Given the description of an element on the screen output the (x, y) to click on. 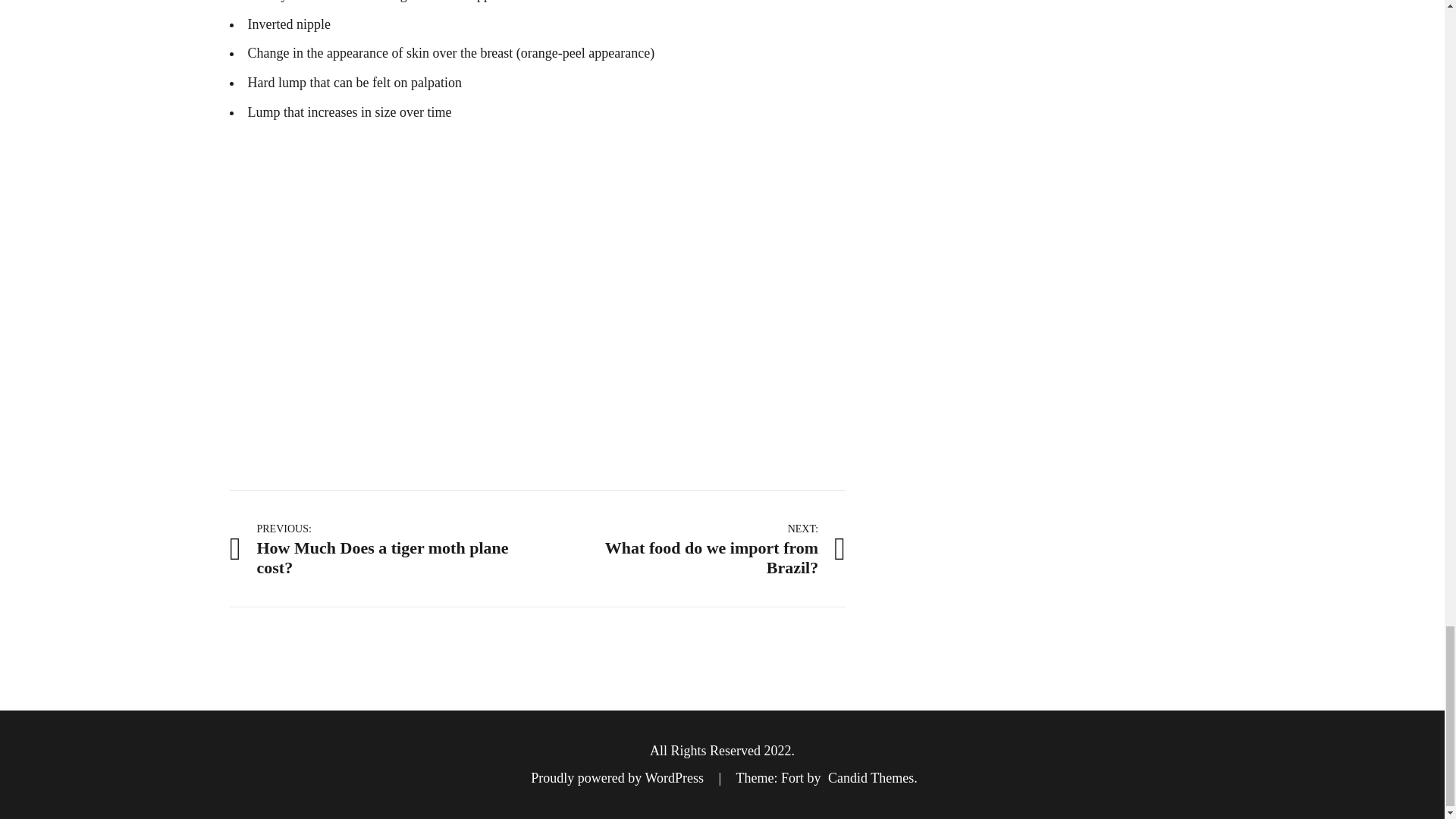
Candid Themes (871, 777)
Proudly powered by WordPress (618, 777)
